Given the description of an element on the screen output the (x, y) to click on. 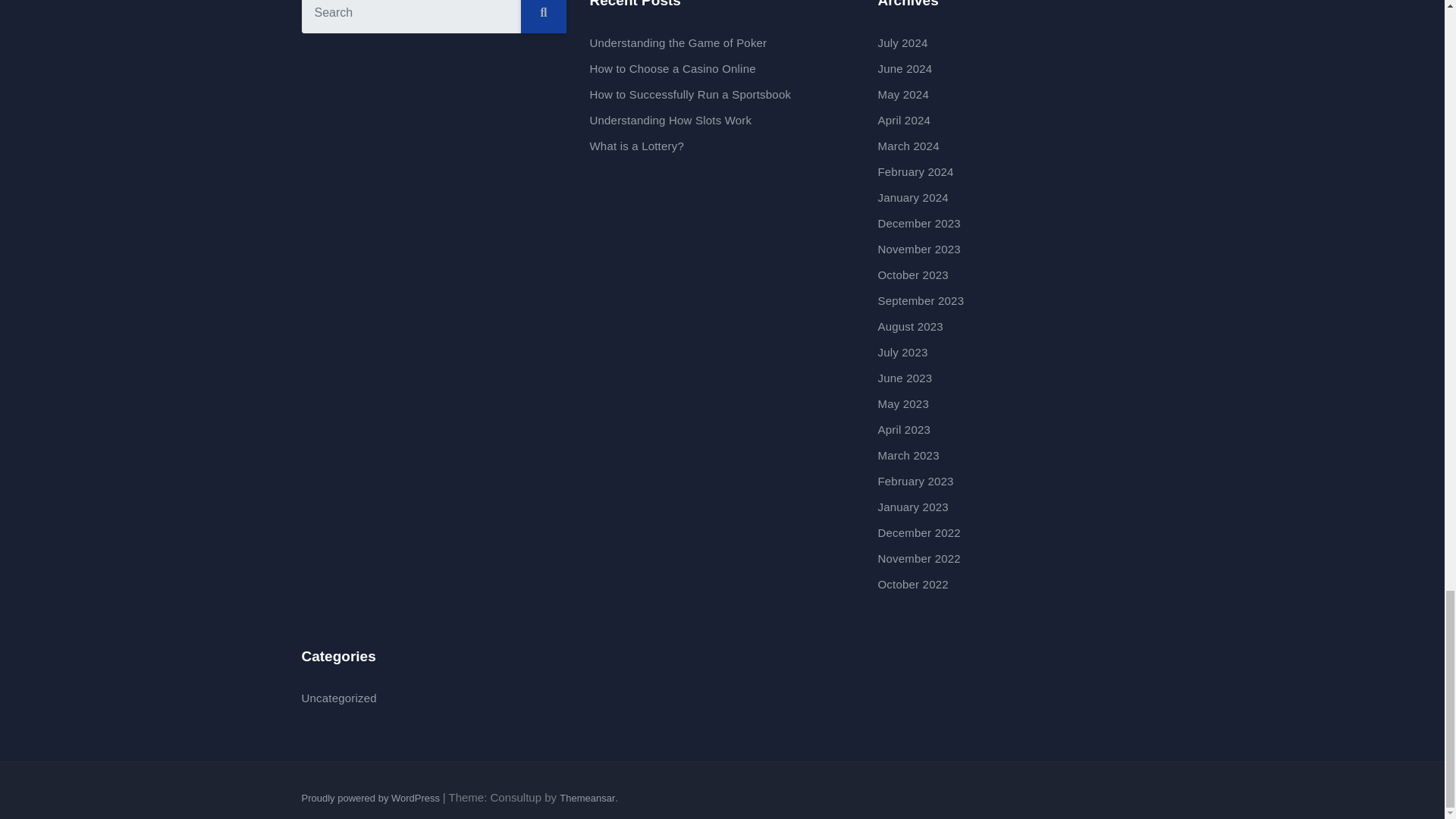
How to Choose a Casino Online (672, 68)
Understanding the Game of Poker (678, 42)
How to Successfully Run a Sportsbook (689, 93)
